Given the description of an element on the screen output the (x, y) to click on. 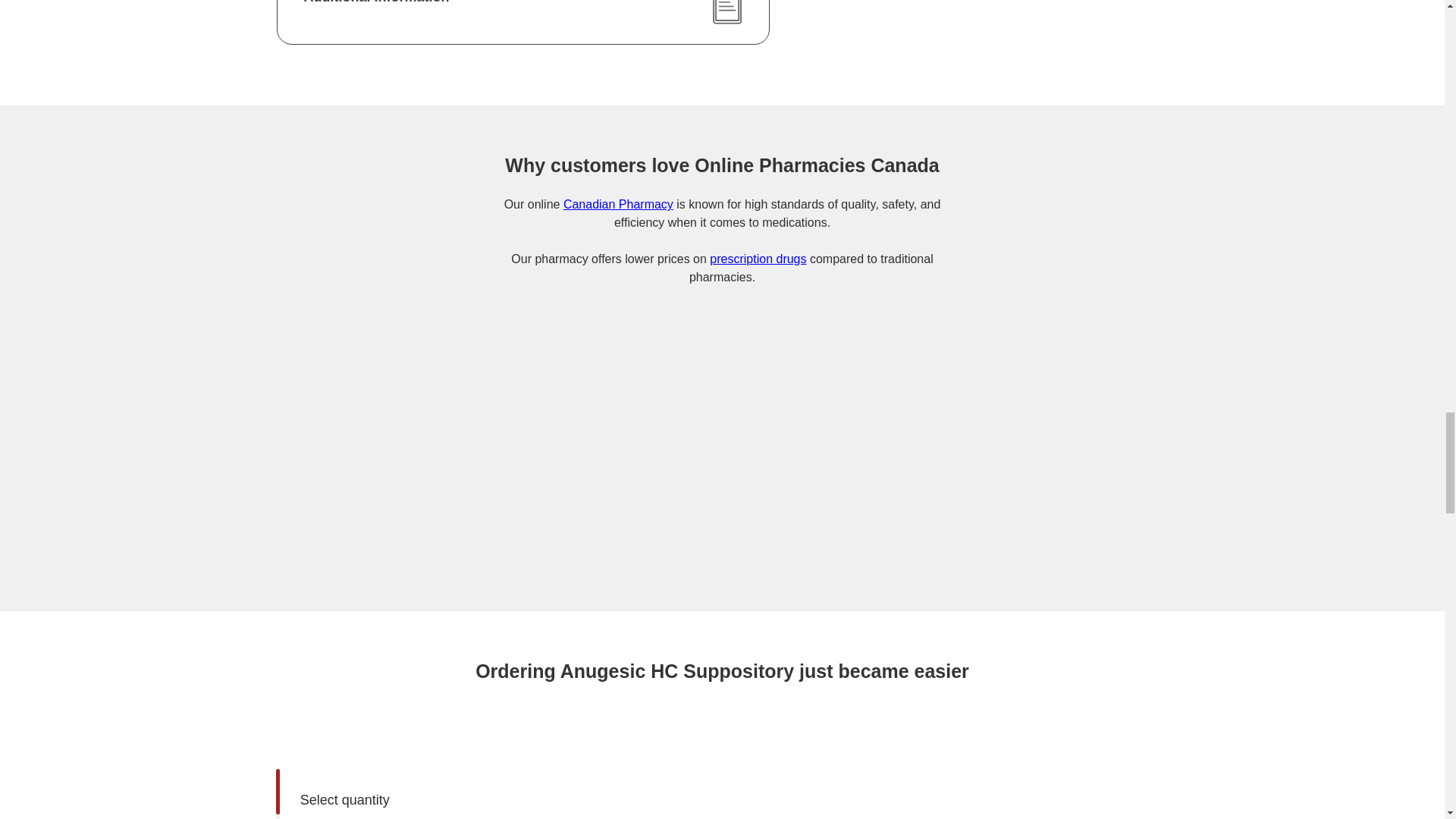
Reviews (1187, 489)
Prescription drugs from Canada (758, 258)
Canadian pharmacy (617, 204)
